Given the description of an element on the screen output the (x, y) to click on. 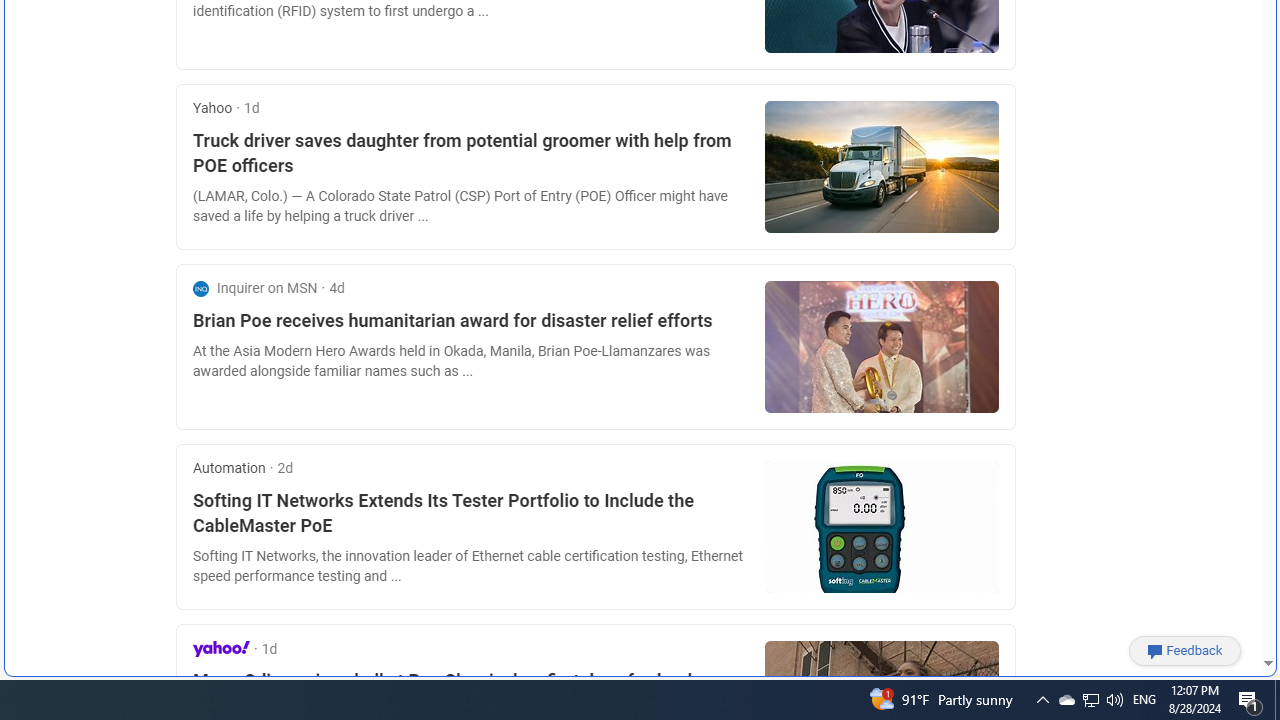
Search news from Yahoo (221, 648)
Search news from Automation (229, 468)
Yahoo (221, 648)
